Given the description of an element on the screen output the (x, y) to click on. 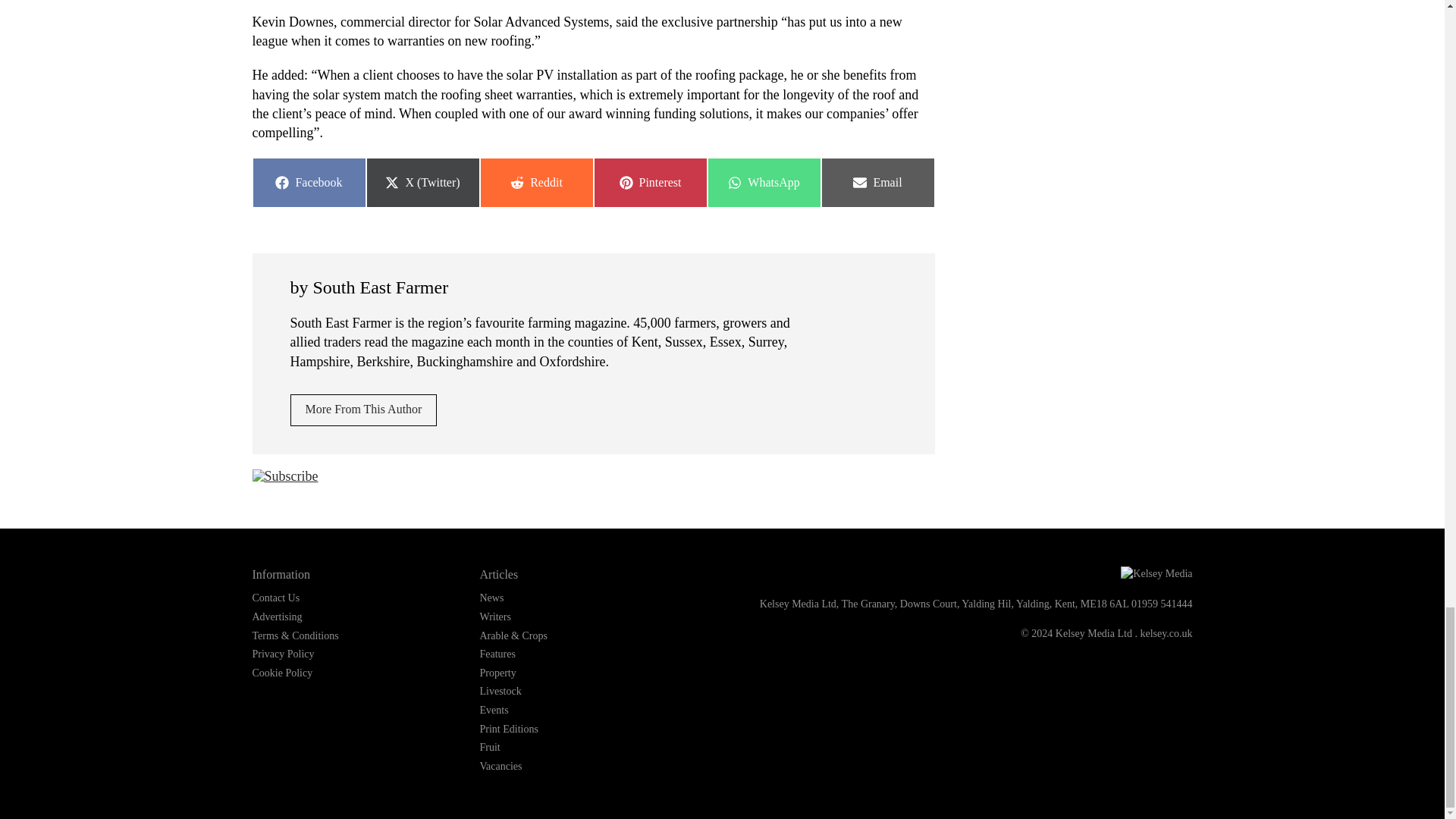
Contact Us (275, 597)
Advertising (276, 616)
More From This Author (763, 183)
